Given the description of an element on the screen output the (x, y) to click on. 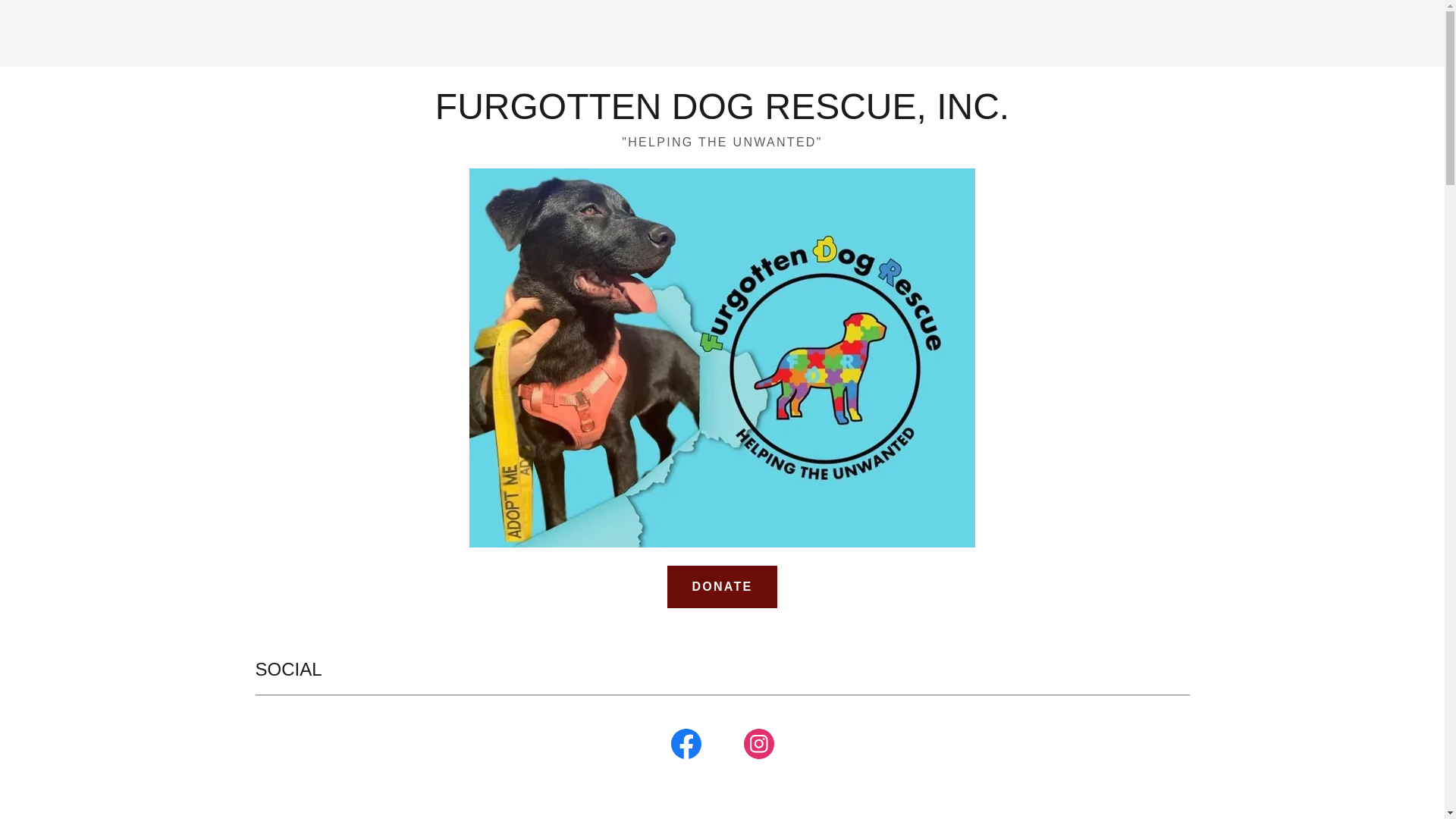
DONATE (721, 586)
FURGOTTEN DOG RESCUE, INC. (722, 114)
Furgotten Dog Rescue, Inc. (722, 114)
